Given the description of an element on the screen output the (x, y) to click on. 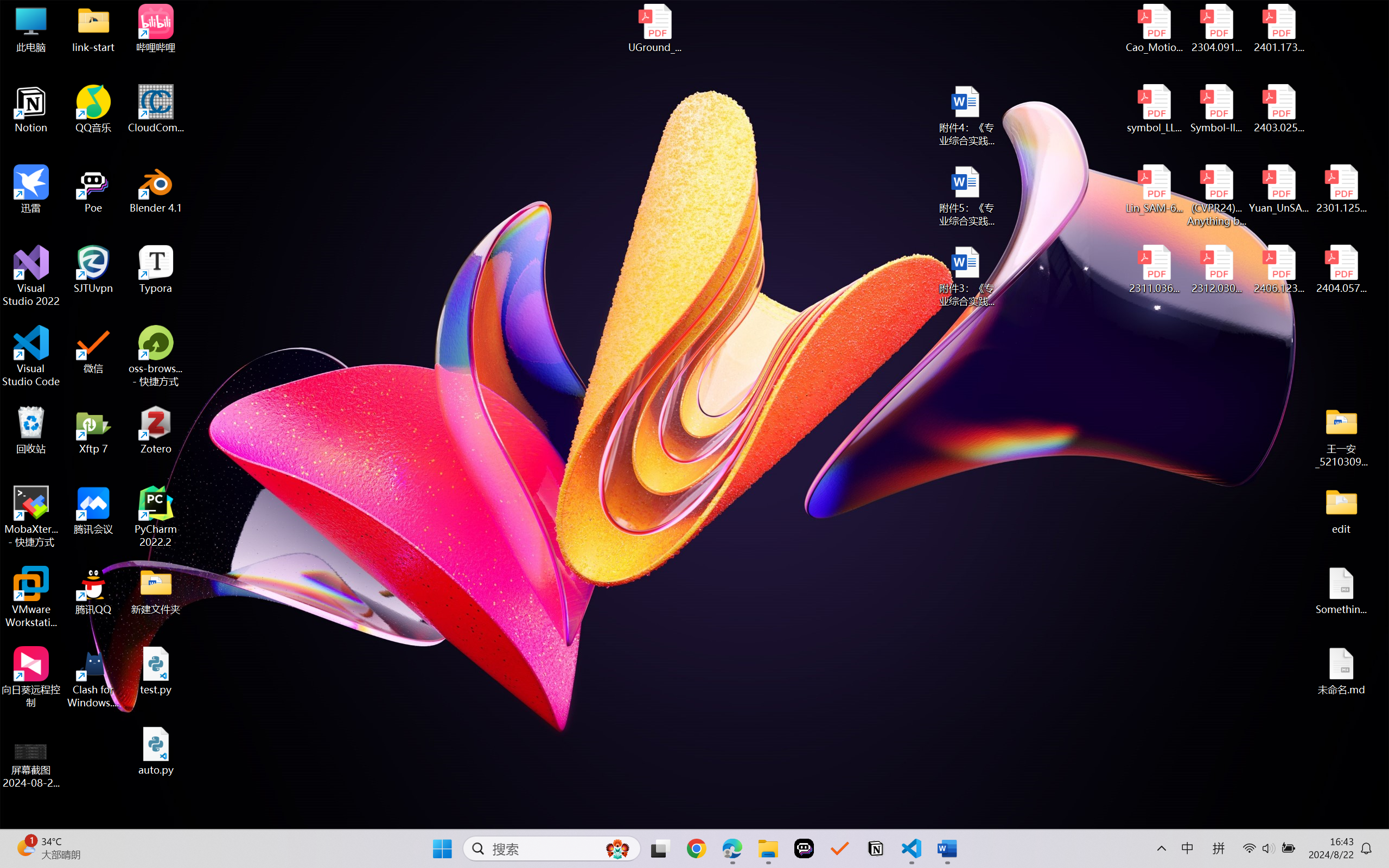
2311.03658v2.pdf (1154, 269)
UGround_paper.pdf (654, 28)
(CVPR24)Matching Anything by Segmenting Anything.pdf (1216, 195)
2304.09121v3.pdf (1216, 28)
Visual Studio Code (31, 355)
symbol_LLM.pdf (1154, 109)
edit (1340, 510)
